Given the description of an element on the screen output the (x, y) to click on. 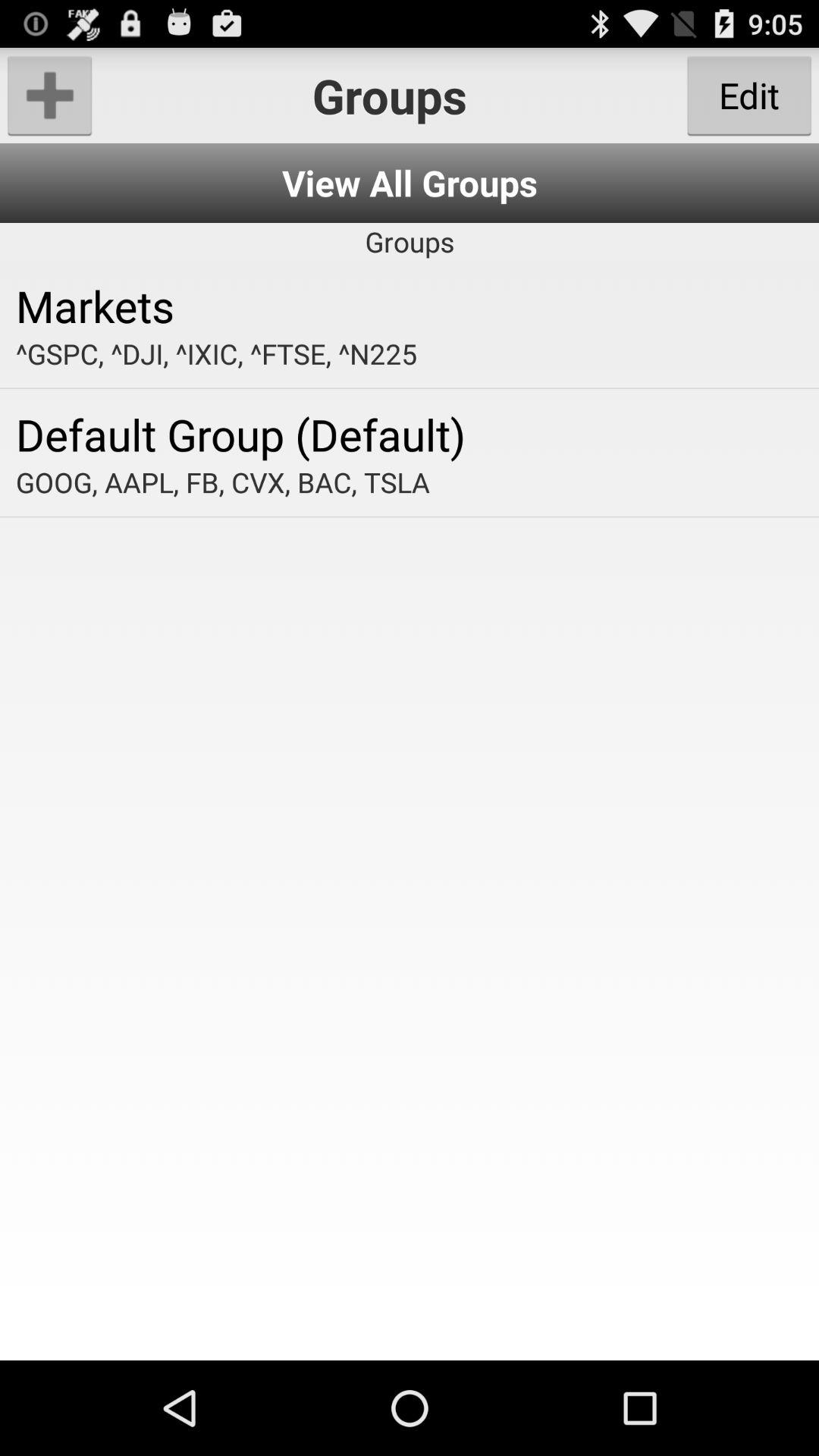
turn on the app to the left of groups item (49, 95)
